Given the description of an element on the screen output the (x, y) to click on. 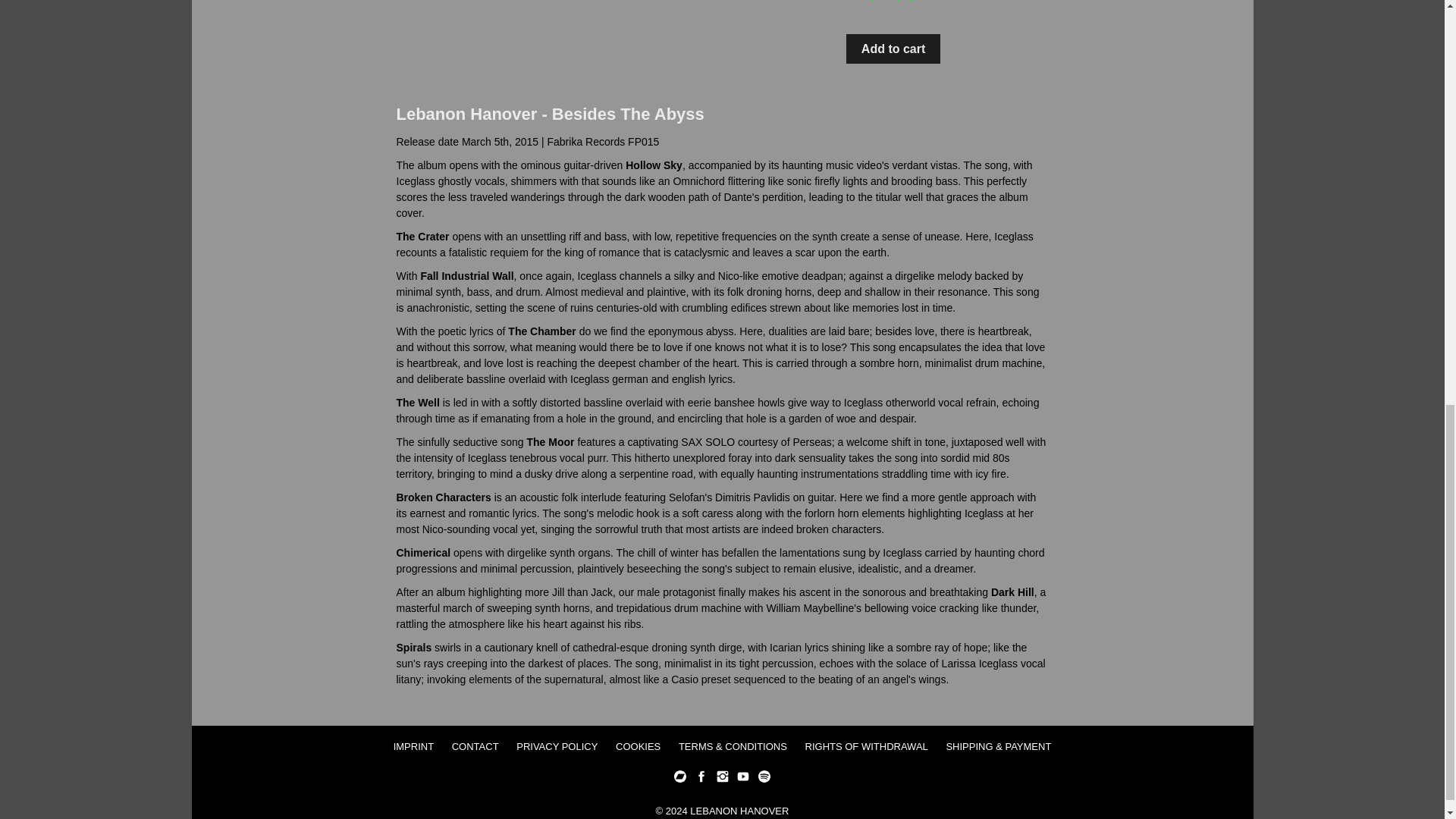
Instagram (721, 781)
Facebook (701, 781)
YouTube (742, 781)
Spotify (764, 781)
Bandcamp (679, 781)
